Given the description of an element on the screen output the (x, y) to click on. 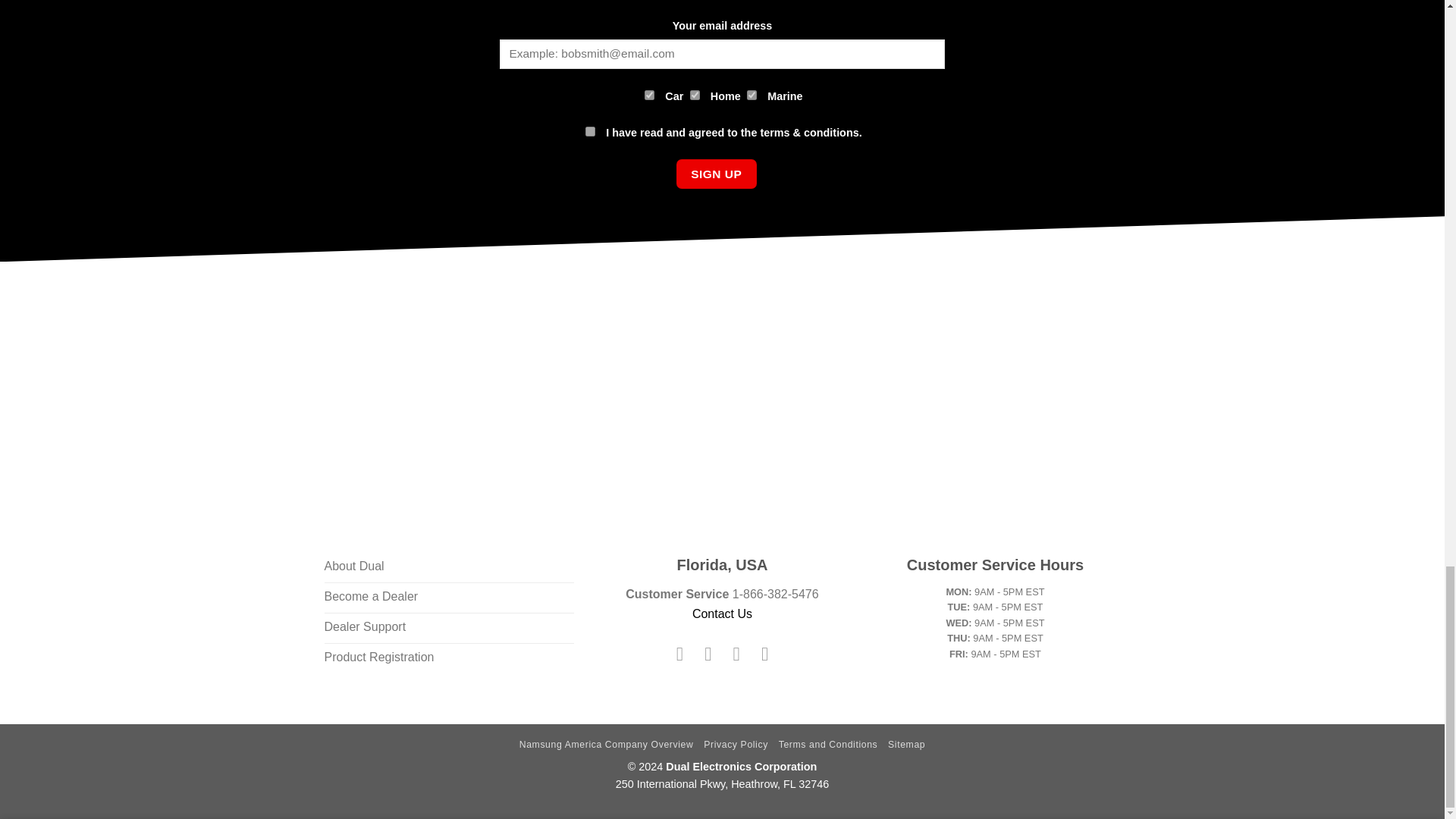
Follow on YouTube (764, 653)
1 (590, 131)
9a3ac5ec12 (695, 94)
Follow on Twitter (735, 653)
fdbcc6bfc0 (649, 94)
Follow on Facebook (678, 653)
Sign up (717, 173)
4b63977614 (751, 94)
Follow on Instagram (707, 653)
